Given the description of an element on the screen output the (x, y) to click on. 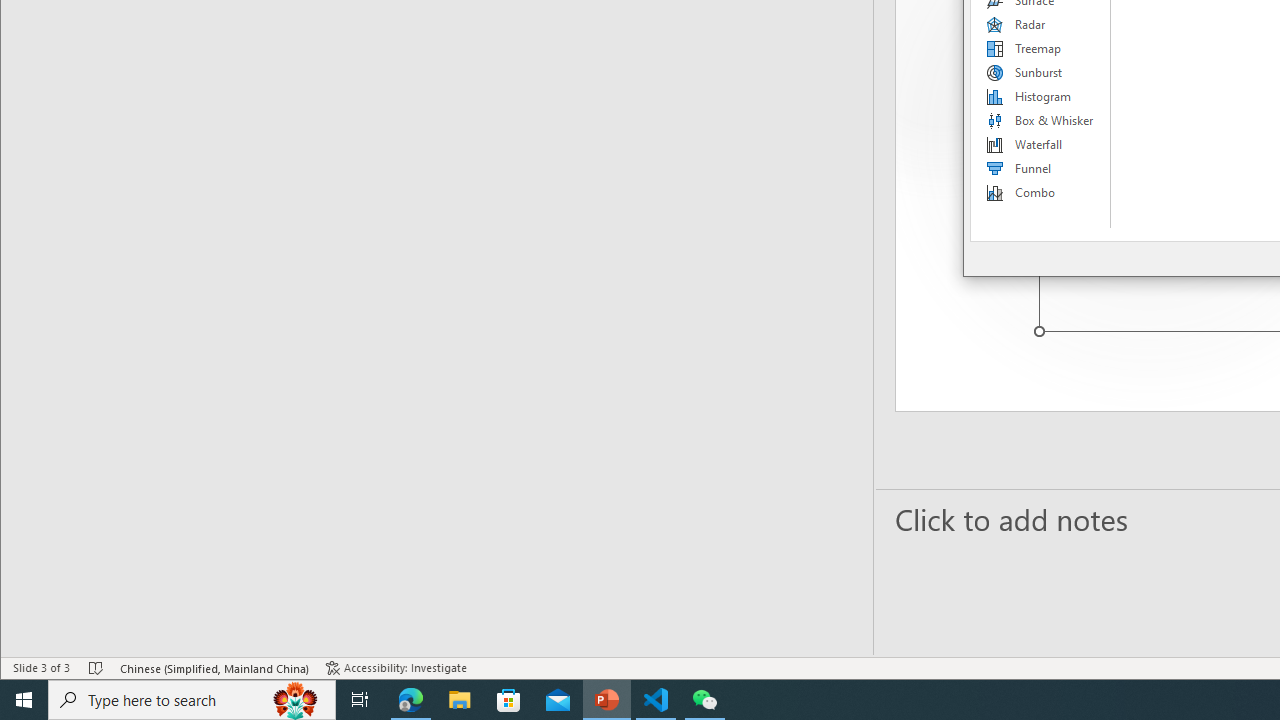
Sunburst (1041, 72)
Waterfall (1041, 144)
Histogram (1041, 96)
Radar (1041, 24)
Box & Whisker (1041, 120)
Combo (1041, 192)
